Given the description of an element on the screen output the (x, y) to click on. 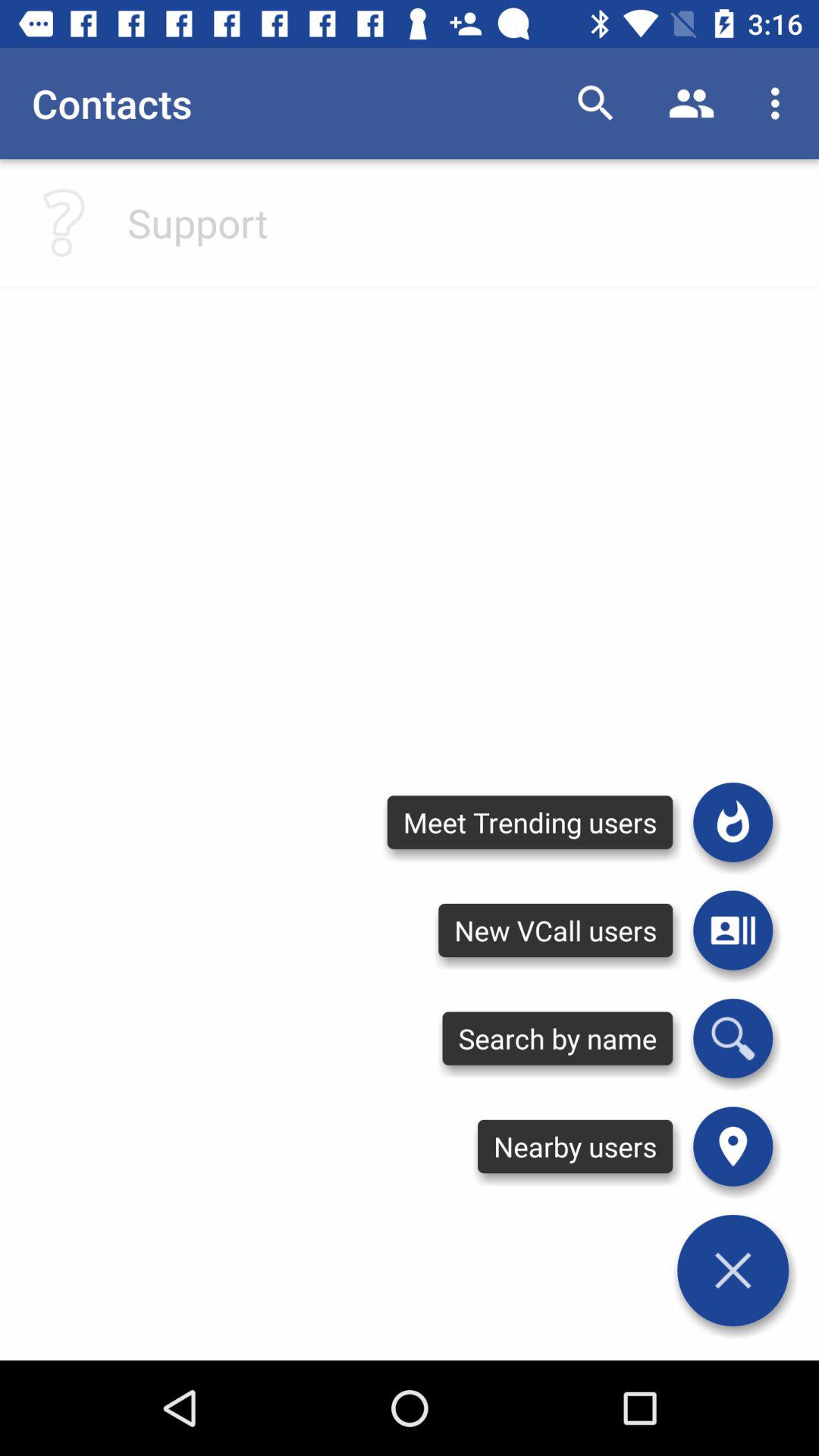
press item next to the meet trending users icon (733, 930)
